Given the description of an element on the screen output the (x, y) to click on. 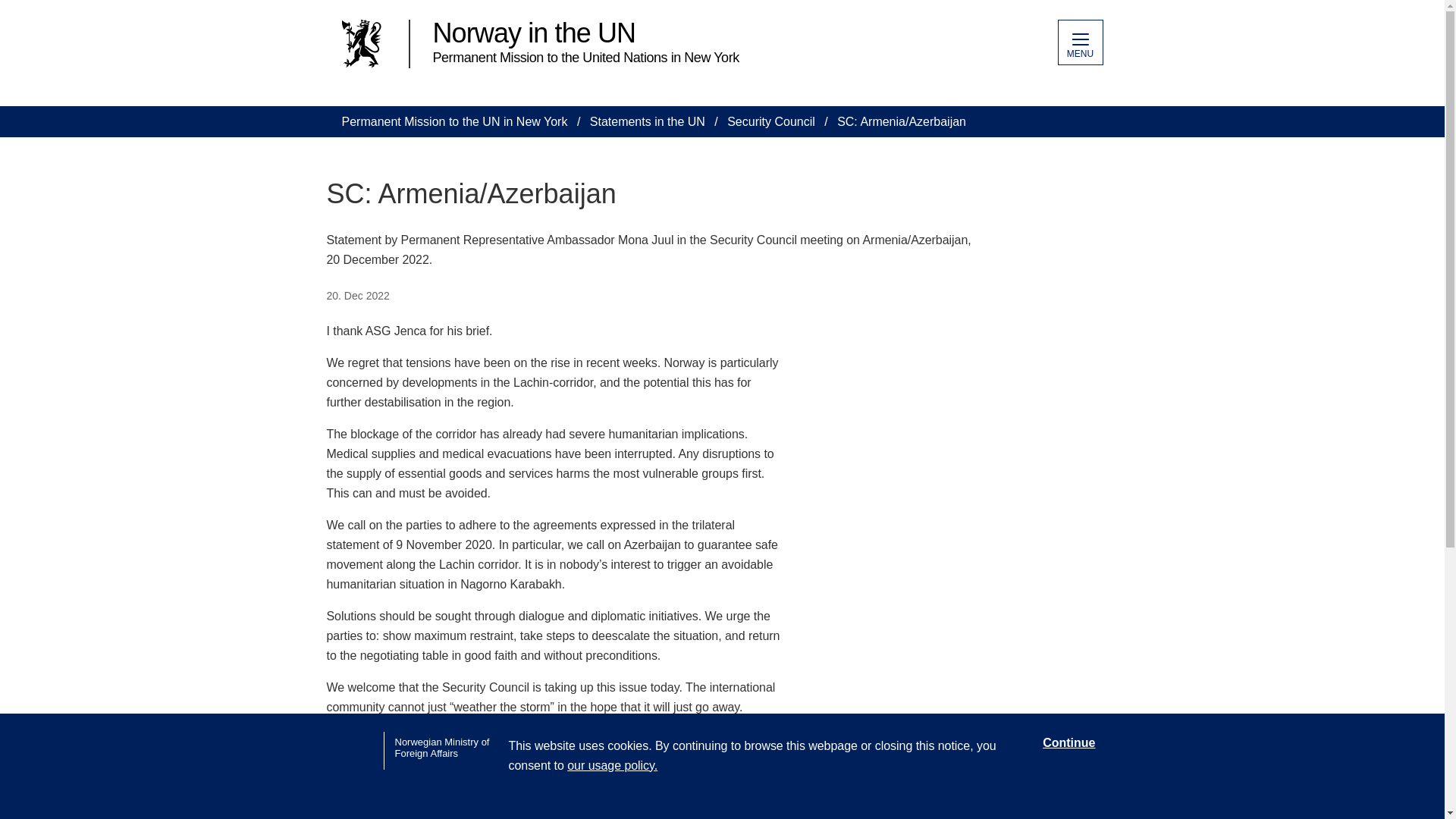
our usage policy. (612, 765)
MENU (1079, 42)
Continue (1068, 743)
Permanent Mission to the UN in New York (453, 121)
Statements in the UN (646, 121)
Permanent Mission to the UN in New York (453, 121)
Security Council (770, 121)
Statements in the UN (646, 121)
Security Council (770, 121)
